Given the description of an element on the screen output the (x, y) to click on. 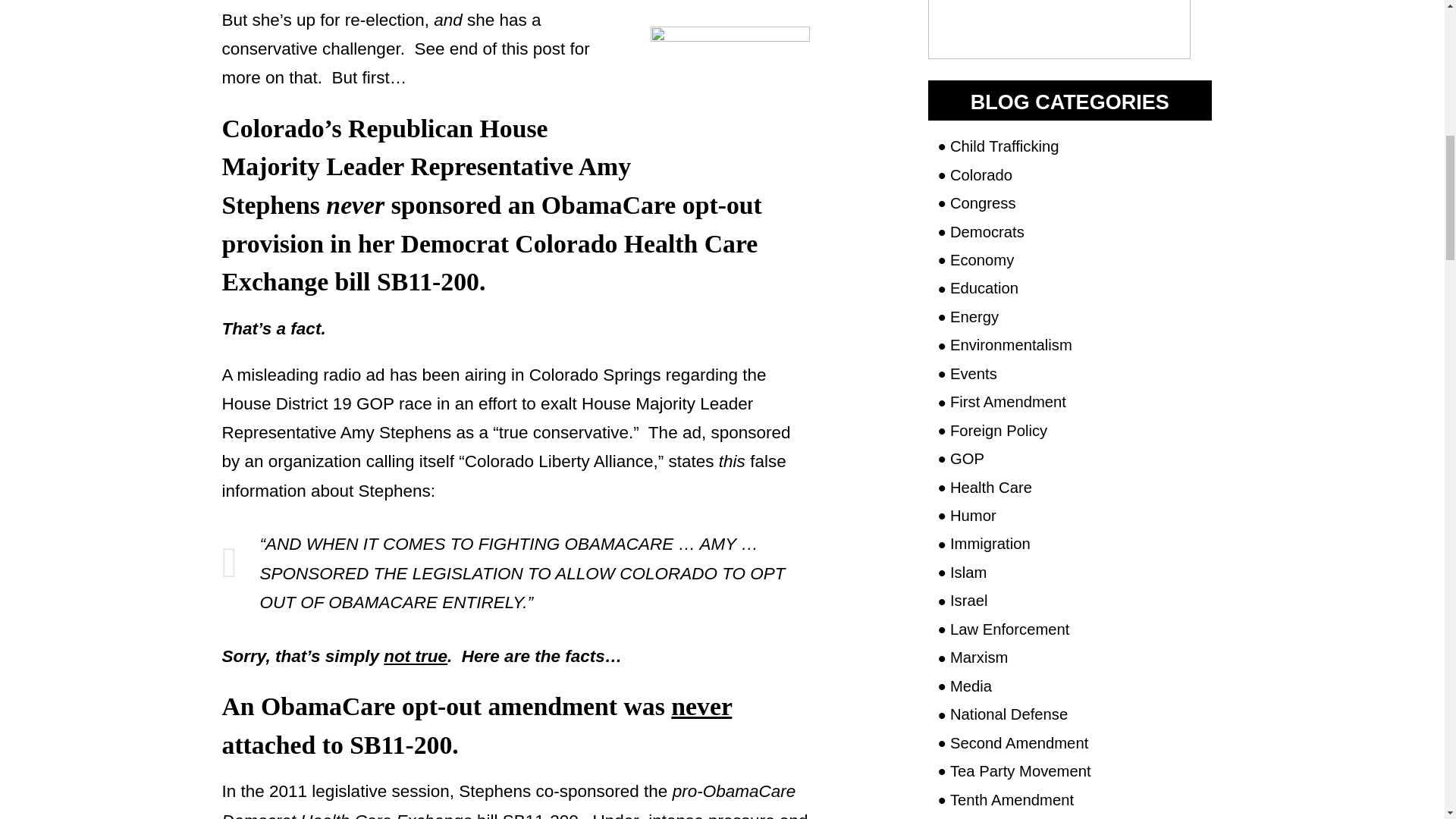
Exchanges Stephens Denied Opt-Out (729, 75)
